Given the description of an element on the screen output the (x, y) to click on. 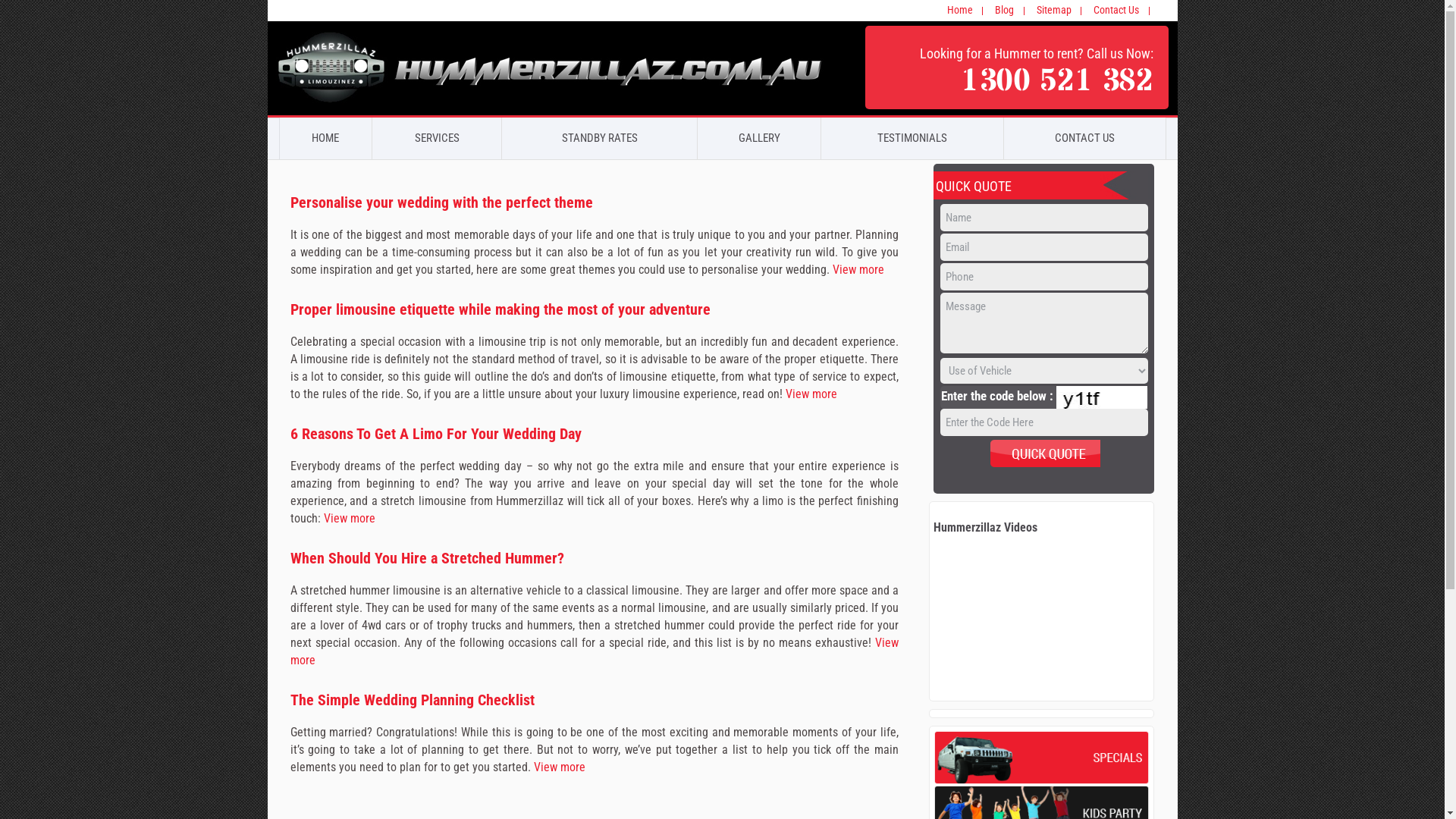
View more Element type: text (559, 766)
Blog Element type: text (1003, 9)
TESTIMONIALS Element type: text (912, 138)
CONTACT US Element type: text (1084, 138)
Sitemap Element type: text (1052, 9)
View more Element type: text (811, 393)
Contact Us Element type: text (1116, 9)
View more Element type: text (348, 518)
Send Element type: hover (1044, 453)
STANDBY RATES Element type: text (599, 138)
View more Element type: text (858, 269)
SERVICES Element type: text (436, 138)
1300 521 382 Element type: text (1056, 83)
GALLERY Element type: text (758, 138)
HOME Element type: text (325, 138)
Hummerzillaz Videos Element type: text (985, 527)
View more Element type: text (593, 651)
Home Element type: text (959, 9)
